Given the description of an element on the screen output the (x, y) to click on. 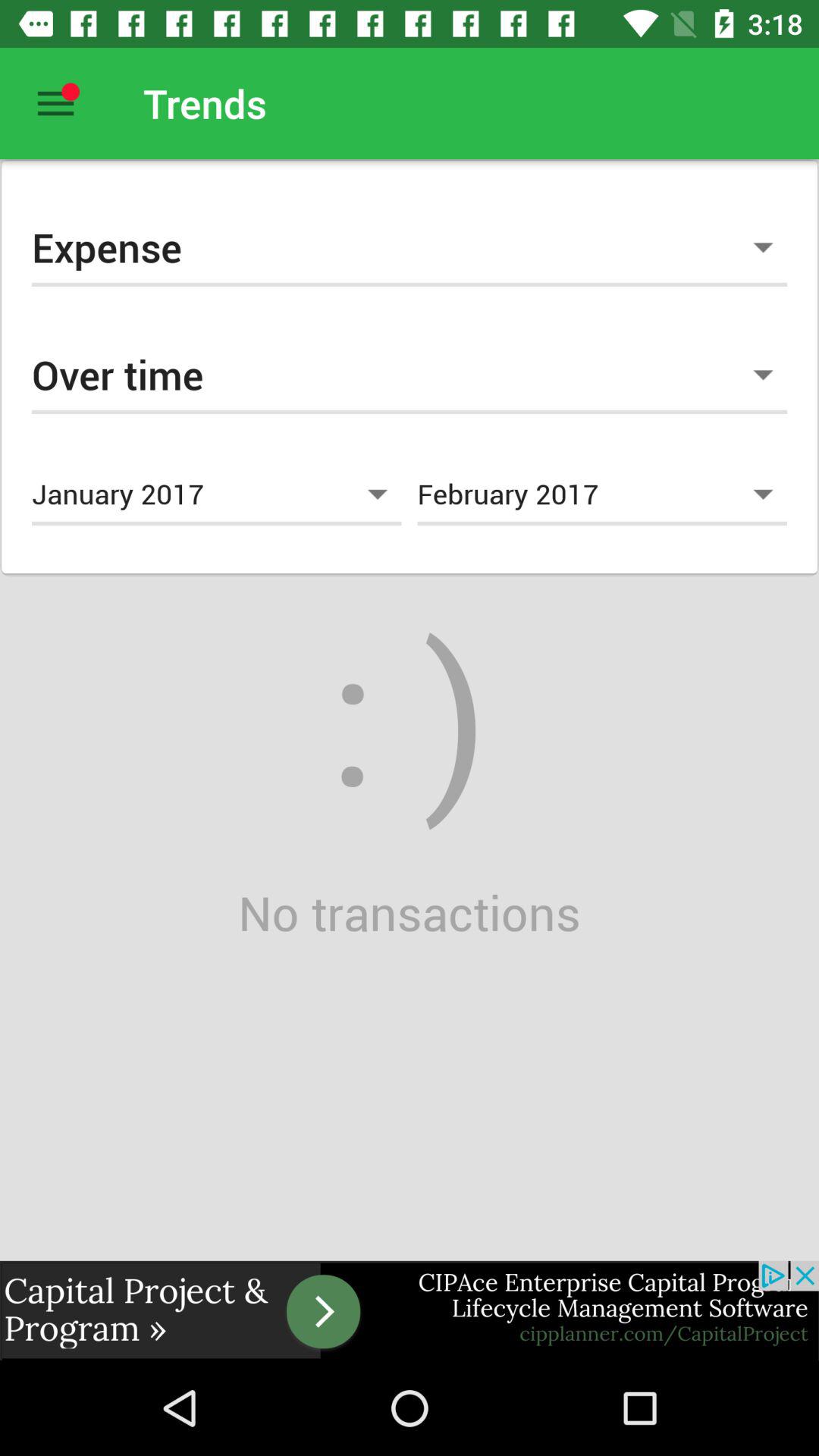
advertisement (409, 1310)
